Given the description of an element on the screen output the (x, y) to click on. 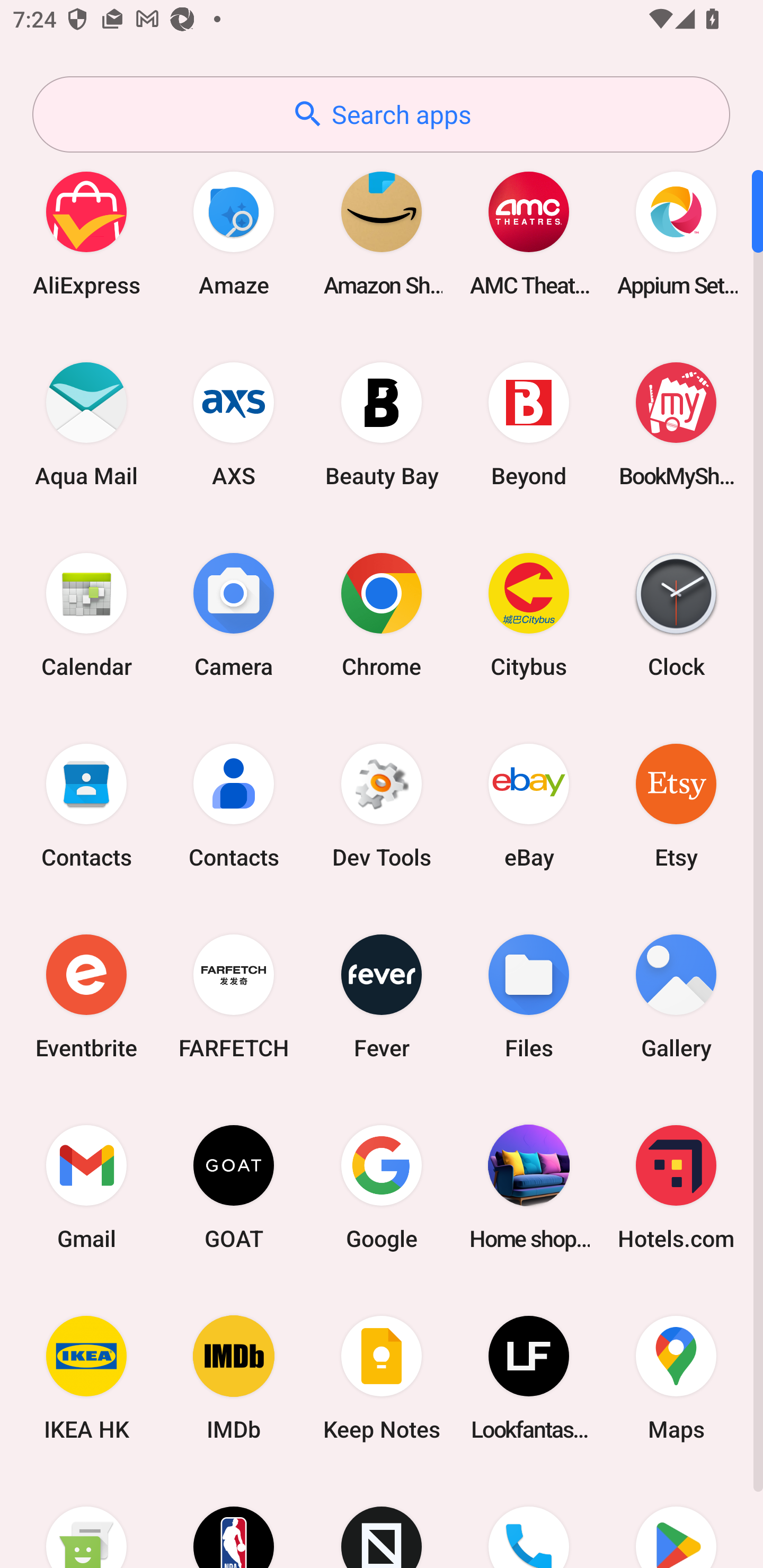
  Search apps (381, 114)
AliExpress (86, 233)
Amaze (233, 233)
Amazon Shopping (381, 233)
AMC Theatres (528, 233)
Appium Settings (676, 233)
Aqua Mail (86, 424)
AXS (233, 424)
Beauty Bay (381, 424)
Beyond (528, 424)
BookMyShow (676, 424)
Calendar (86, 614)
Camera (233, 614)
Chrome (381, 614)
Citybus (528, 614)
Clock (676, 614)
Contacts (86, 805)
Contacts (233, 805)
Dev Tools (381, 805)
eBay (528, 805)
Etsy (676, 805)
Eventbrite (86, 996)
FARFETCH (233, 996)
Fever (381, 996)
Files (528, 996)
Gallery (676, 996)
Gmail (86, 1186)
GOAT (233, 1186)
Google (381, 1186)
Home shopping (528, 1186)
Hotels.com (676, 1186)
IKEA HK (86, 1377)
IMDb (233, 1377)
Keep Notes (381, 1377)
Lookfantastic (528, 1377)
Maps (676, 1377)
Messaging (86, 1520)
NBA (233, 1520)
Novelship (381, 1520)
Phone (528, 1520)
Play Store (676, 1520)
